Given the description of an element on the screen output the (x, y) to click on. 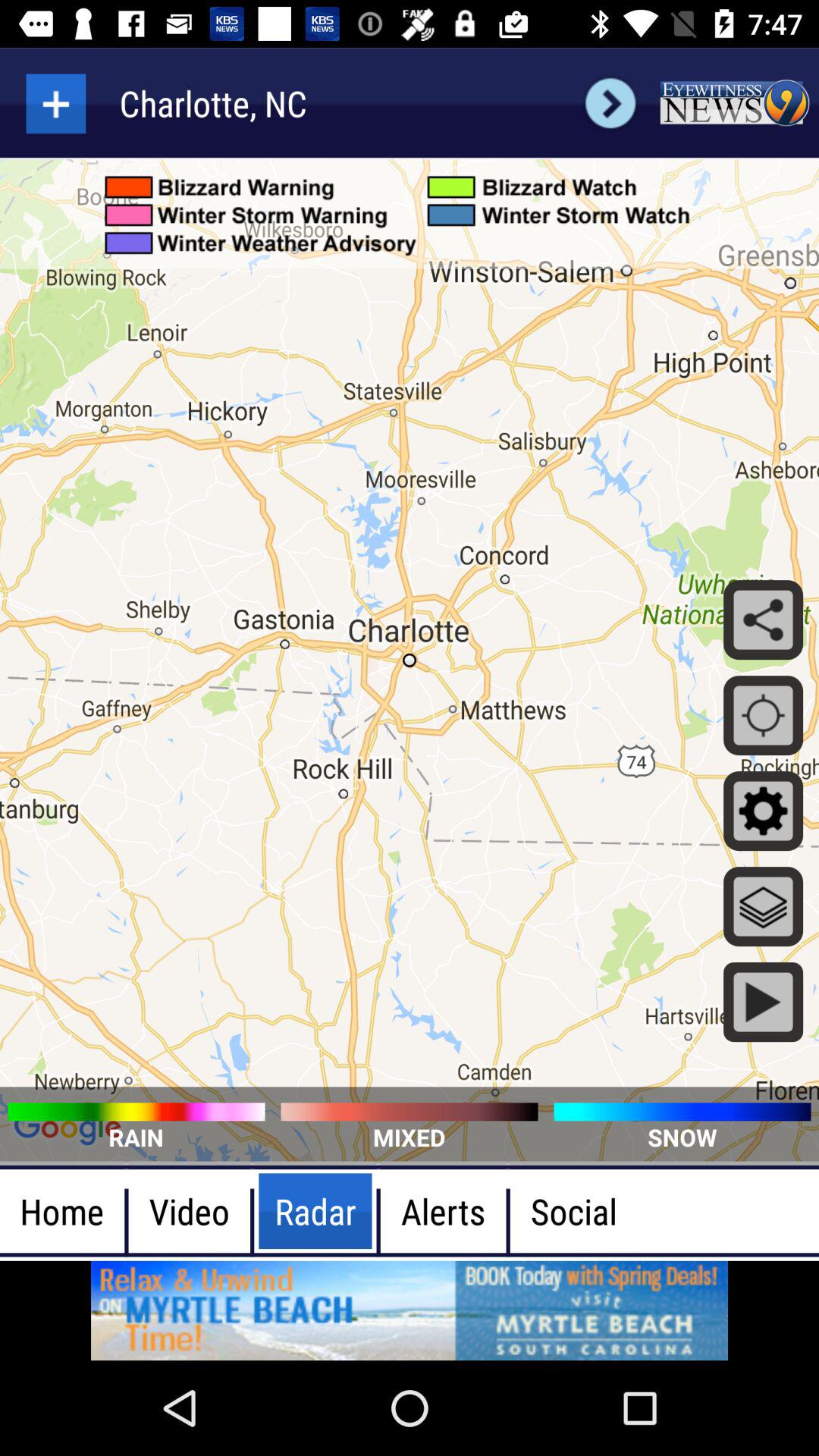
add location (55, 103)
